Given the description of an element on the screen output the (x, y) to click on. 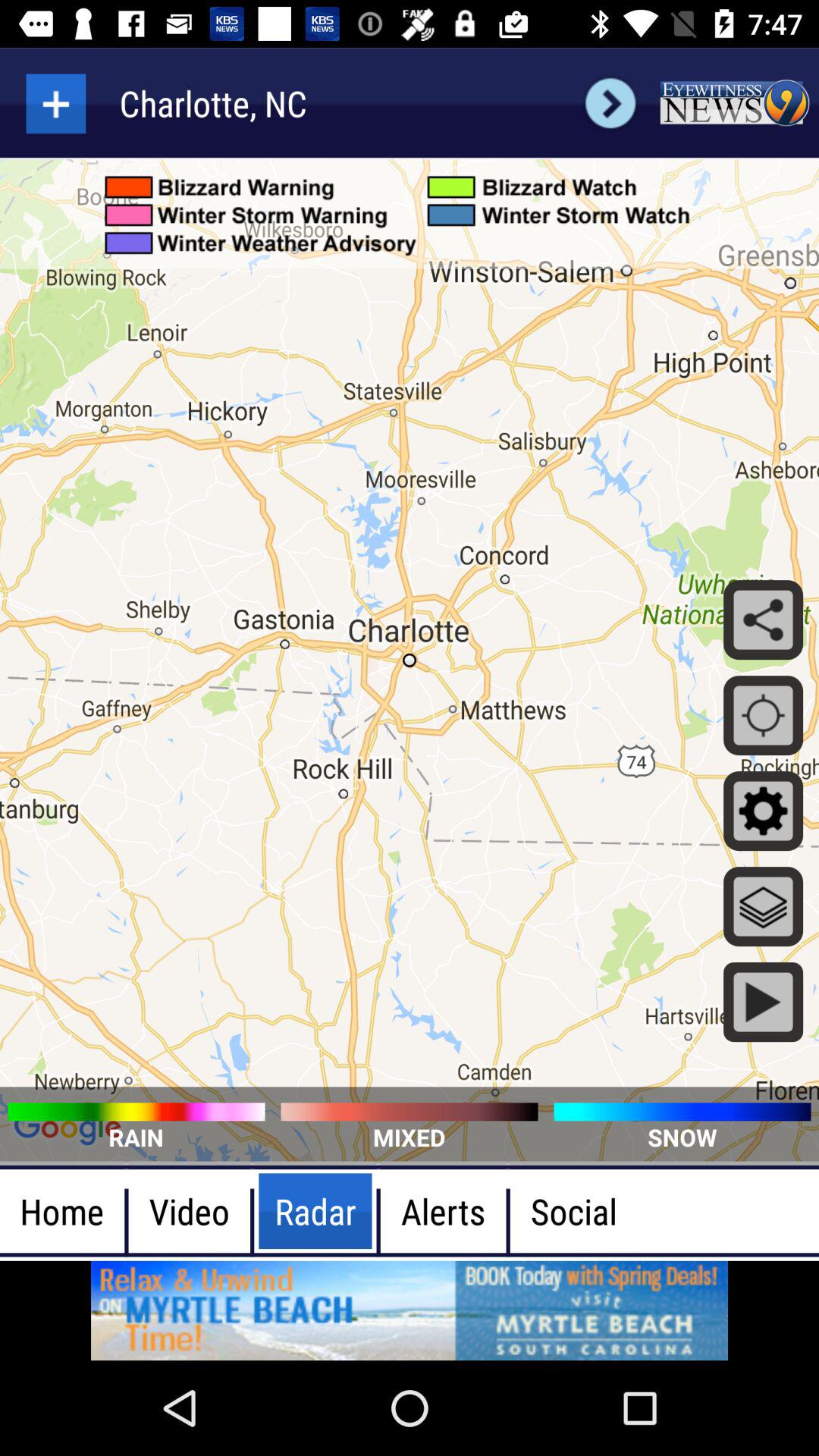
add location (55, 103)
